Given the description of an element on the screen output the (x, y) to click on. 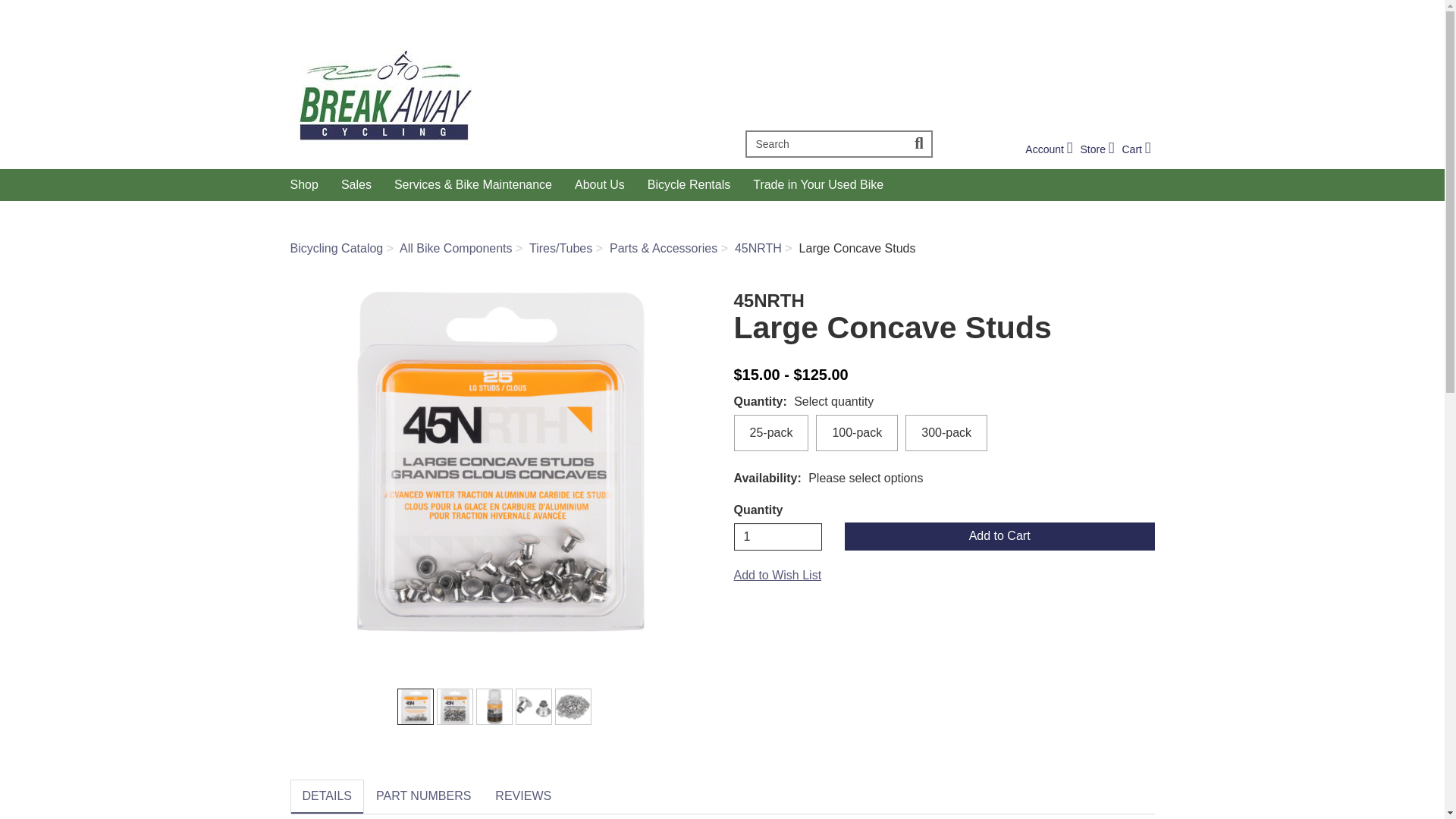
Google conversion frame (75, 9)
Search (825, 144)
1 (777, 536)
Quantity: 100-pack (454, 706)
Search (920, 144)
Breakaway Cycling Home Page (499, 92)
Cart (1135, 149)
Shop (304, 184)
Quantity: 300-pack (494, 706)
Account (1048, 149)
Quantity: 25-pack (414, 706)
Store (1096, 149)
